Given the description of an element on the screen output the (x, y) to click on. 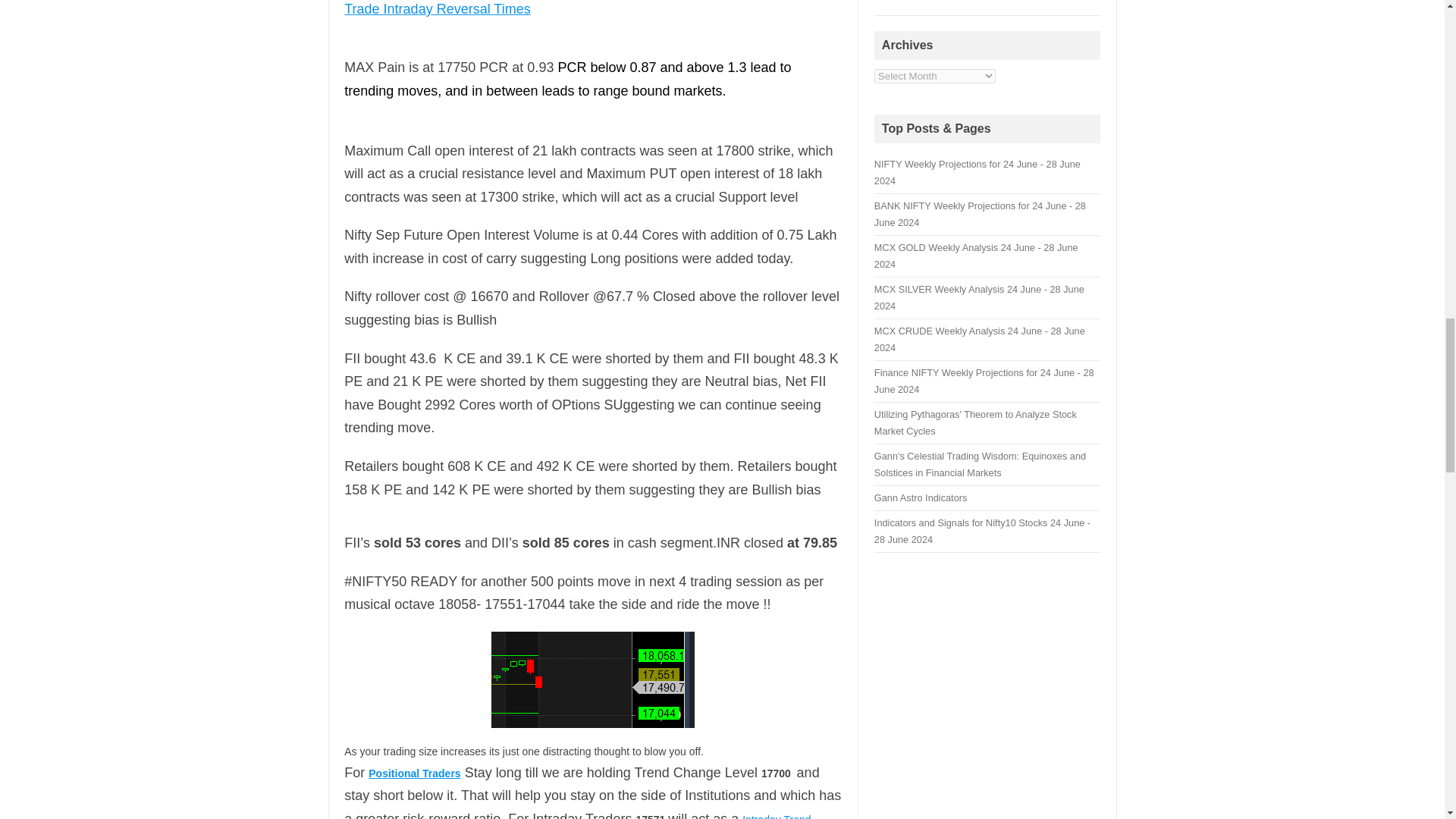
How to Find and Trade Intraday Reversal Times (579, 8)
Positional Traders (414, 773)
